Given the description of an element on the screen output the (x, y) to click on. 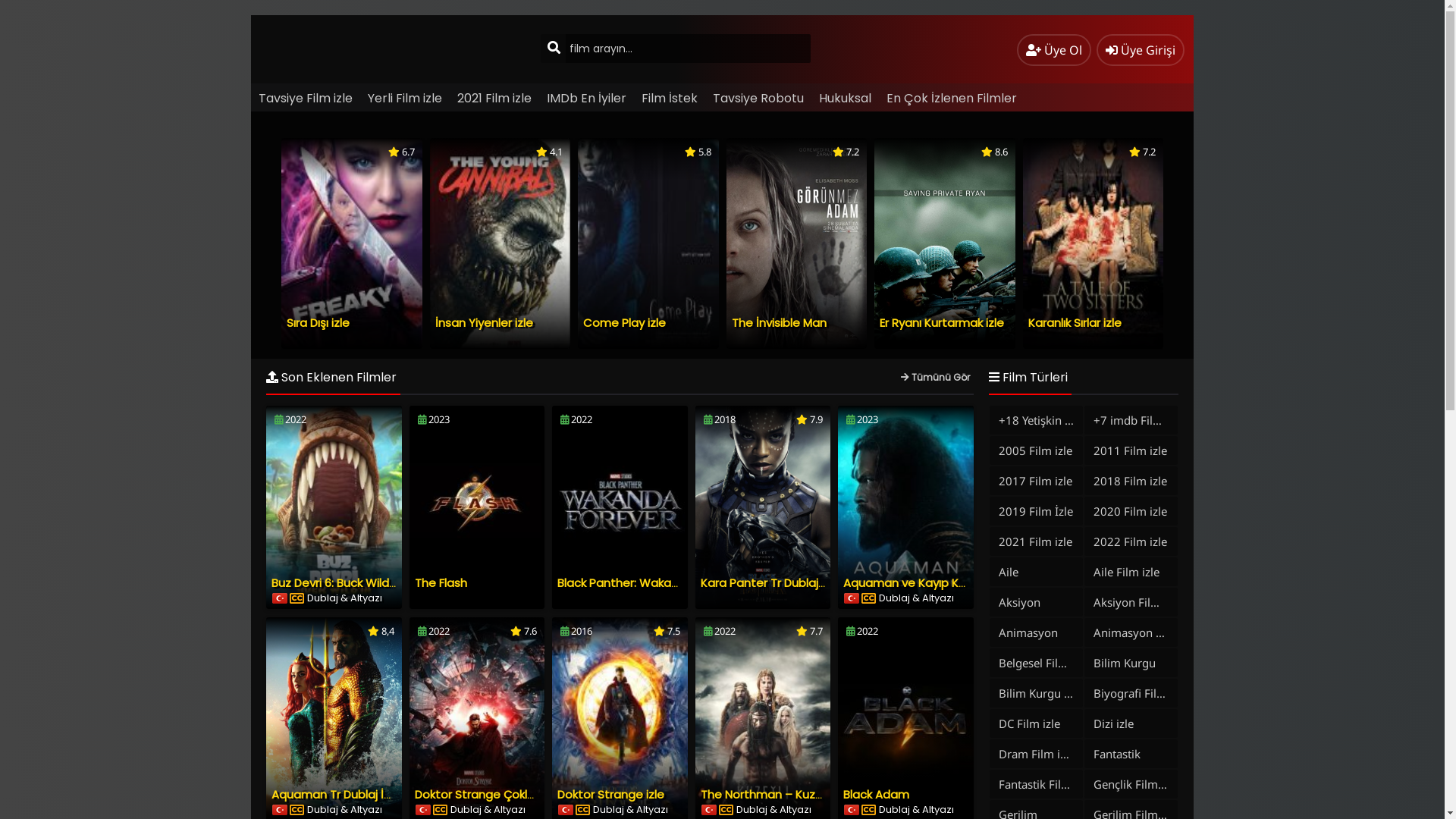
Belgesel Film izle Element type: text (1035, 662)
Fantastik Element type: text (1130, 753)
Bilim Kurgu Element type: text (1130, 662)
DC Film izle Element type: text (1035, 723)
2011 Film izle Element type: text (1130, 450)
Aksiyon Element type: text (1035, 601)
Dram Film izle Element type: text (1035, 753)
Black Panther: Wakanda Forever Element type: text (647, 582)
2021 Film izle Element type: text (1035, 541)
Animasyon Element type: text (1035, 632)
Aksiyon Film izle Element type: text (1130, 601)
Hukuksal Element type: text (844, 97)
Black Adam Element type: text (876, 794)
Yerli Film izle Element type: text (404, 97)
Tavsiye Film izle Element type: text (305, 97)
Come Play izle Element type: text (624, 322)
2005 Film izle Element type: text (1035, 450)
+7 imdb Filmler Element type: text (1130, 419)
Aile Element type: text (1035, 571)
2020 Film izle Element type: text (1130, 510)
Tavsiye Robotu Element type: text (758, 97)
Aile Film izle Element type: text (1130, 571)
Fantastik Film izle Element type: text (1035, 783)
2022 Film izle Element type: text (1130, 541)
2021 Film izle Element type: text (494, 97)
Doktor Strange izle Element type: text (610, 794)
The Flash Element type: text (440, 582)
Animasyon Film izle Element type: text (1130, 632)
2017 Film izle Element type: text (1035, 480)
Dizi izle Element type: text (1130, 723)
2018 Film izle Element type: text (1130, 480)
Bilim Kurgu Film izle Element type: text (1035, 692)
